Given the description of an element on the screen output the (x, y) to click on. 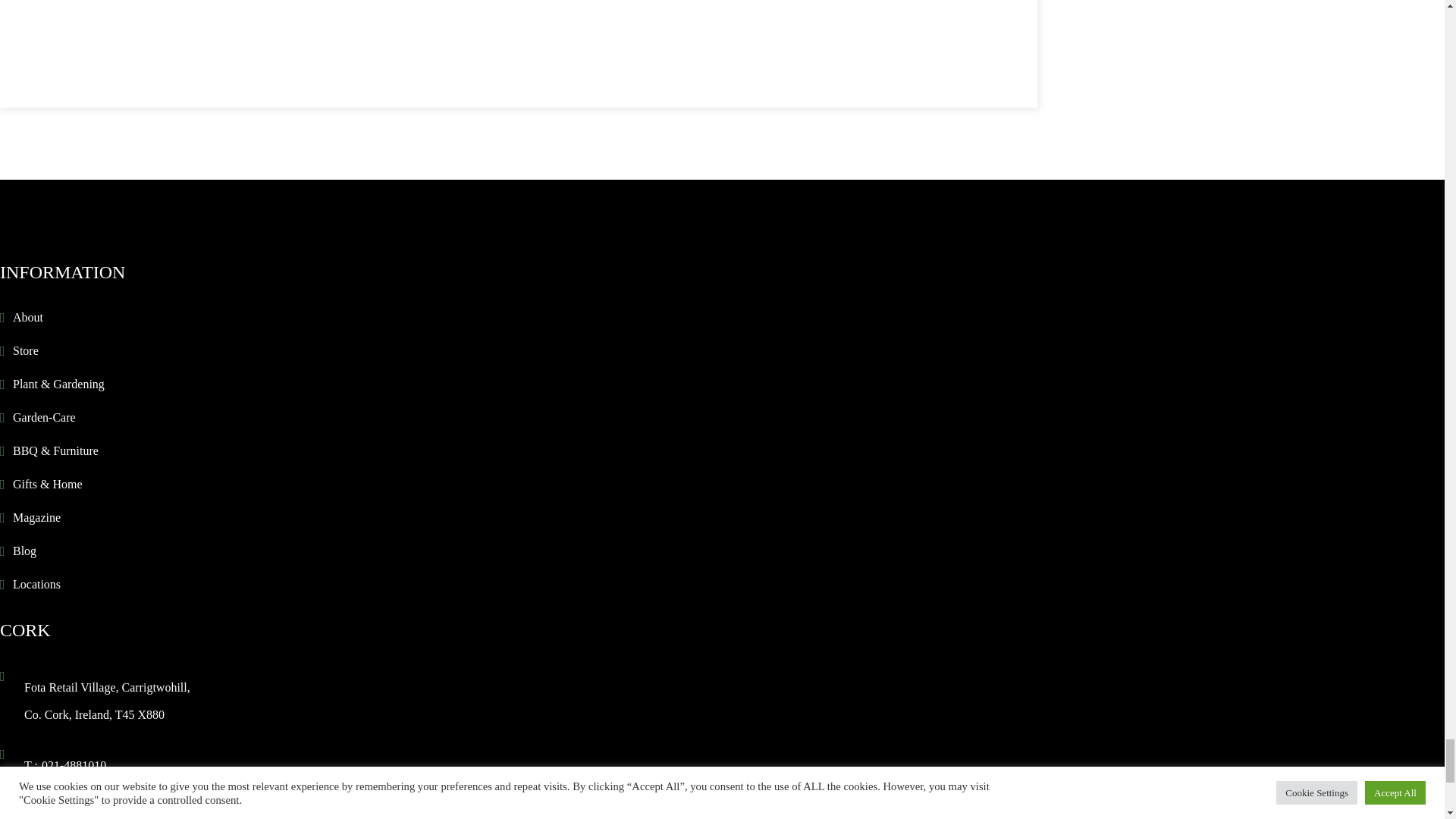
Store (26, 350)
Garden-Care (44, 417)
About (28, 317)
